Given the description of an element on the screen output the (x, y) to click on. 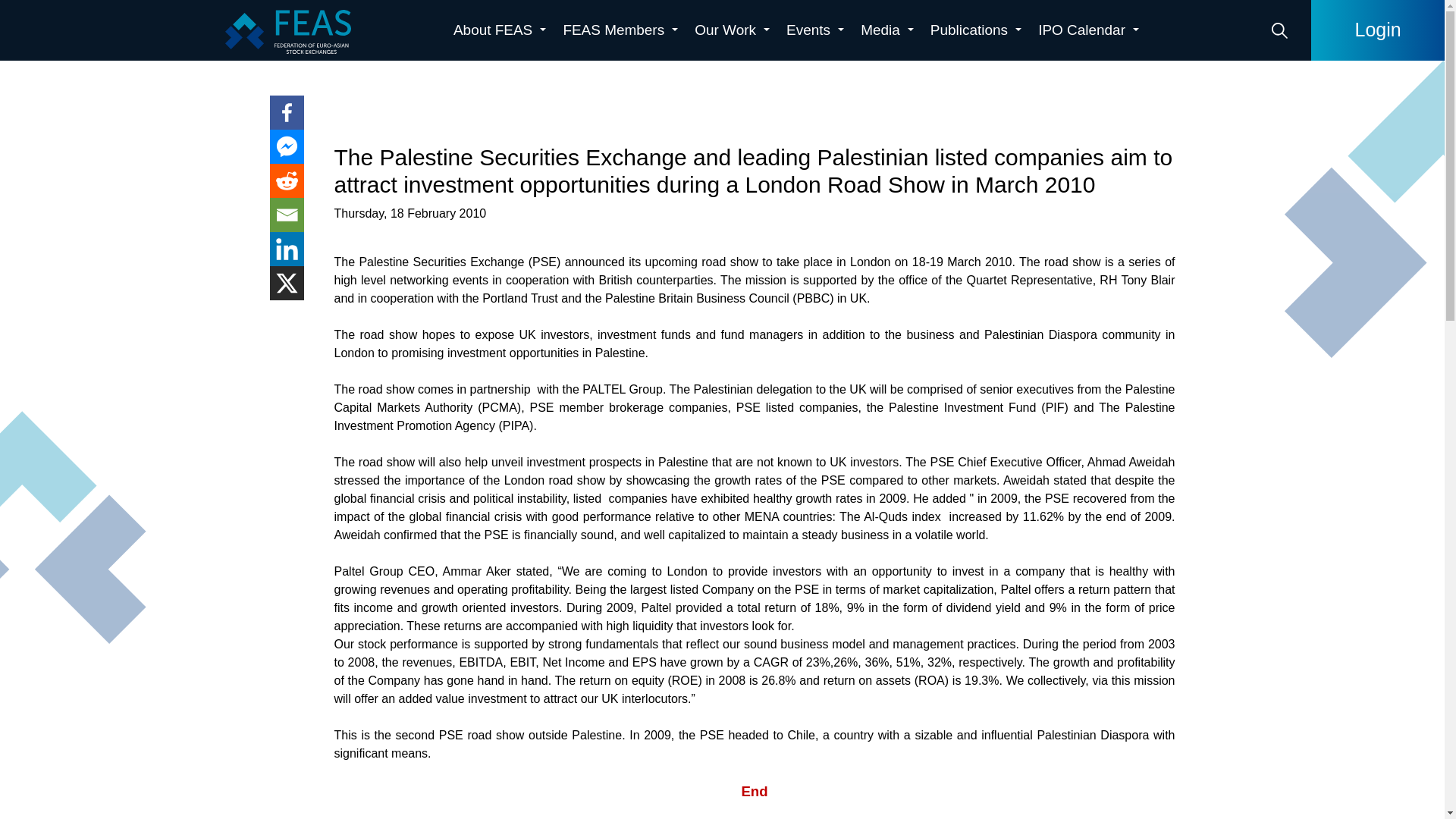
FEAS Members (620, 29)
Media (887, 29)
Email (286, 214)
Publications (975, 29)
Our Work (732, 29)
Events (815, 29)
IPO Calendar (1088, 29)
Linkedin (286, 248)
Facebook (286, 112)
Reddit (286, 180)
About FEAS (498, 29)
X (286, 283)
